Given the description of an element on the screen output the (x, y) to click on. 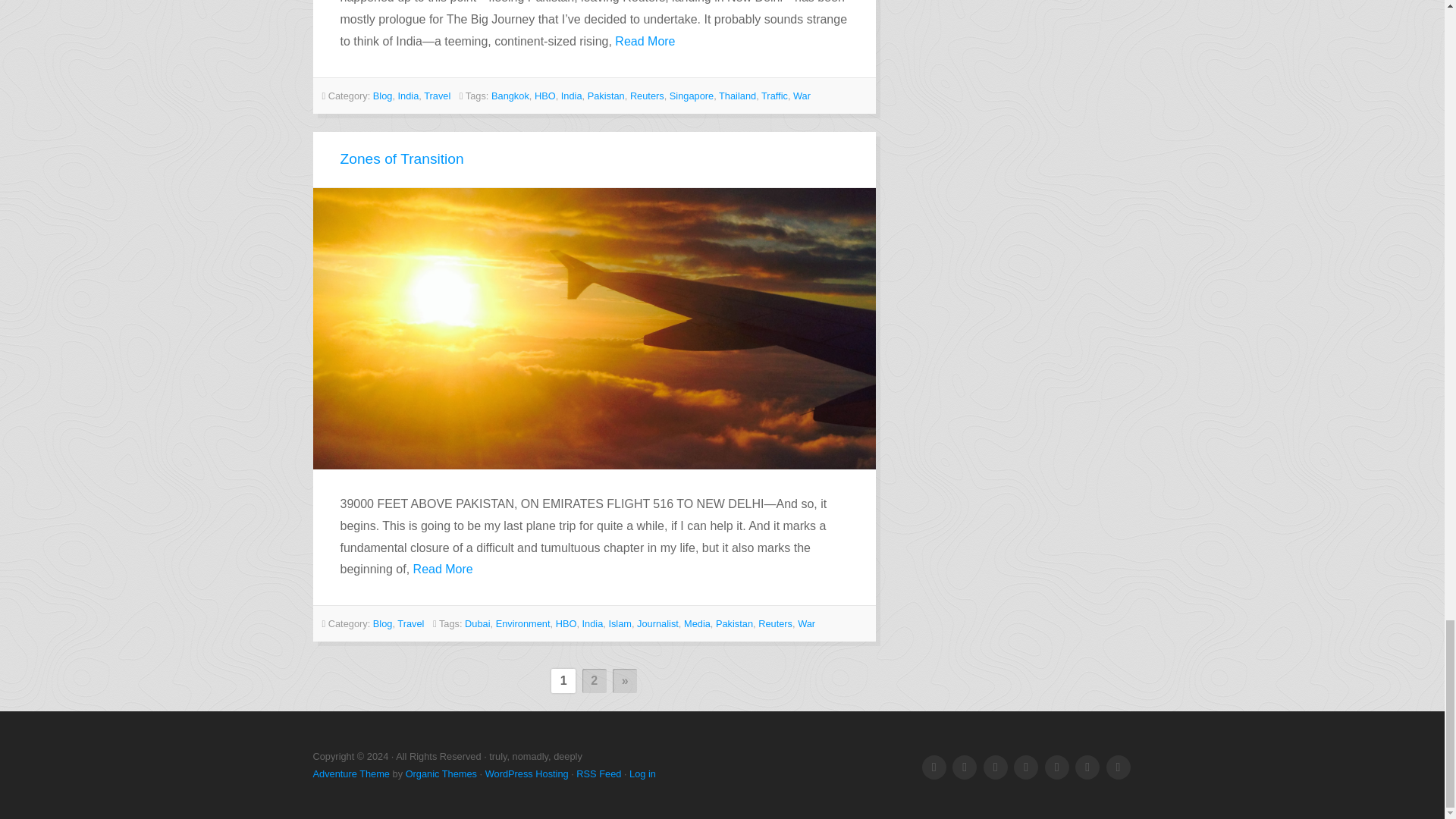
Zones of Transition (401, 158)
WordPress Hosting (526, 773)
